Given the description of an element on the screen output the (x, y) to click on. 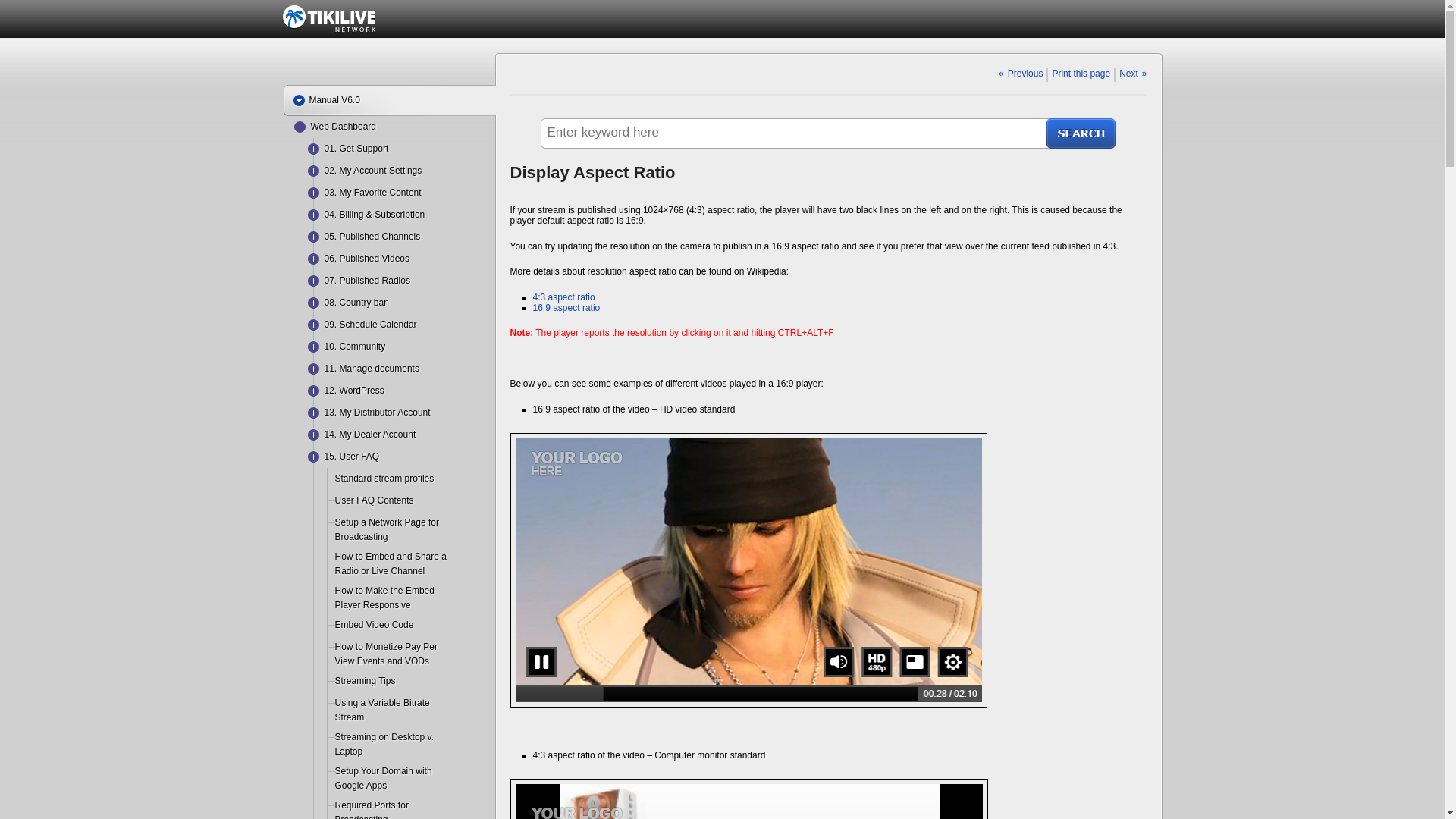
Web Dashboard (344, 126)
01. Get Support (356, 148)
02. My Account Settings (373, 170)
Web Dashboard (344, 126)
02. My Account Settings (373, 170)
01. Get Support (356, 148)
03. My Favorite Content (373, 192)
